Given the description of an element on the screen output the (x, y) to click on. 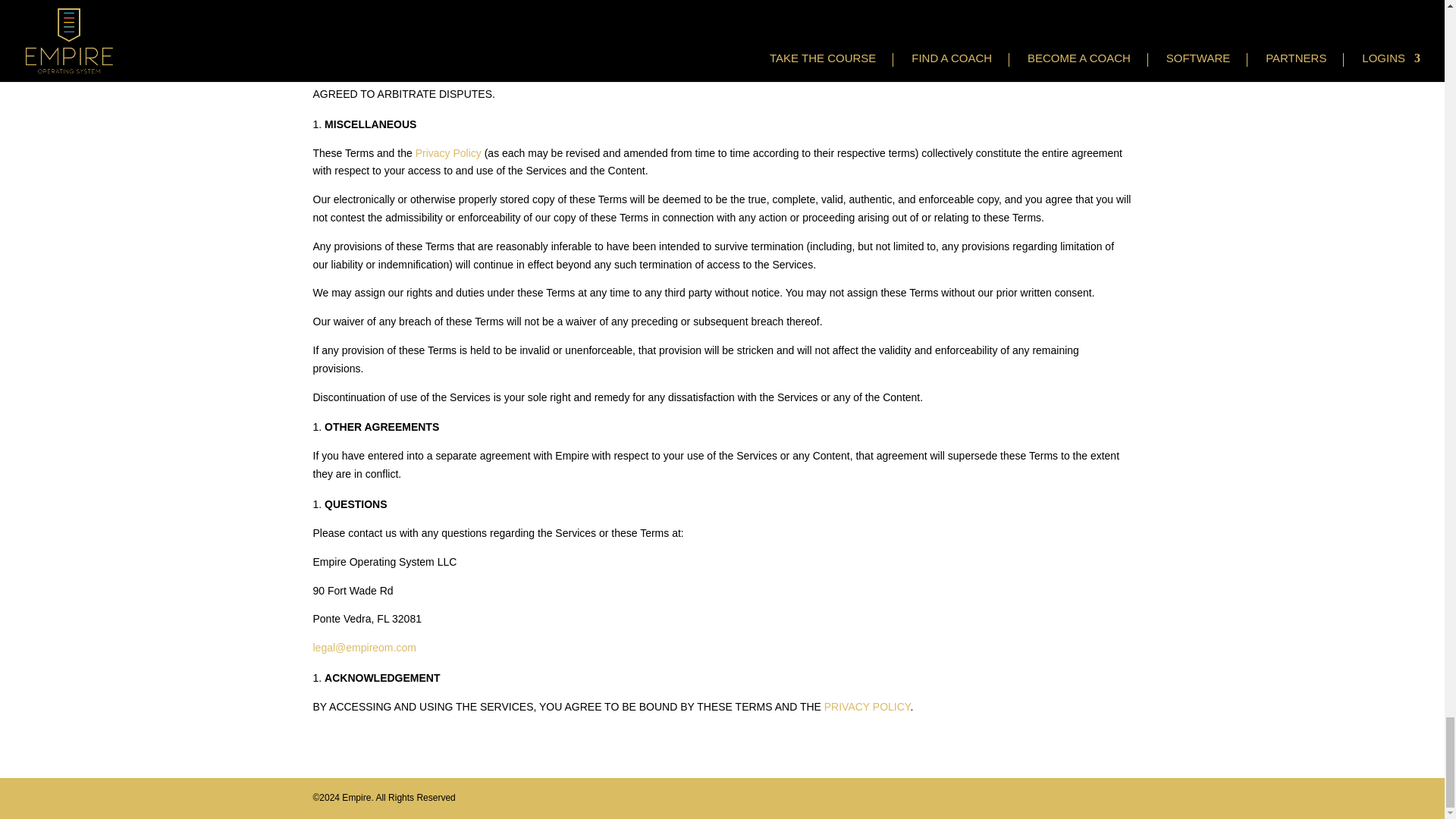
Privacy Policy (447, 152)
PRIVACY POLICY (867, 706)
